Given the description of an element on the screen output the (x, y) to click on. 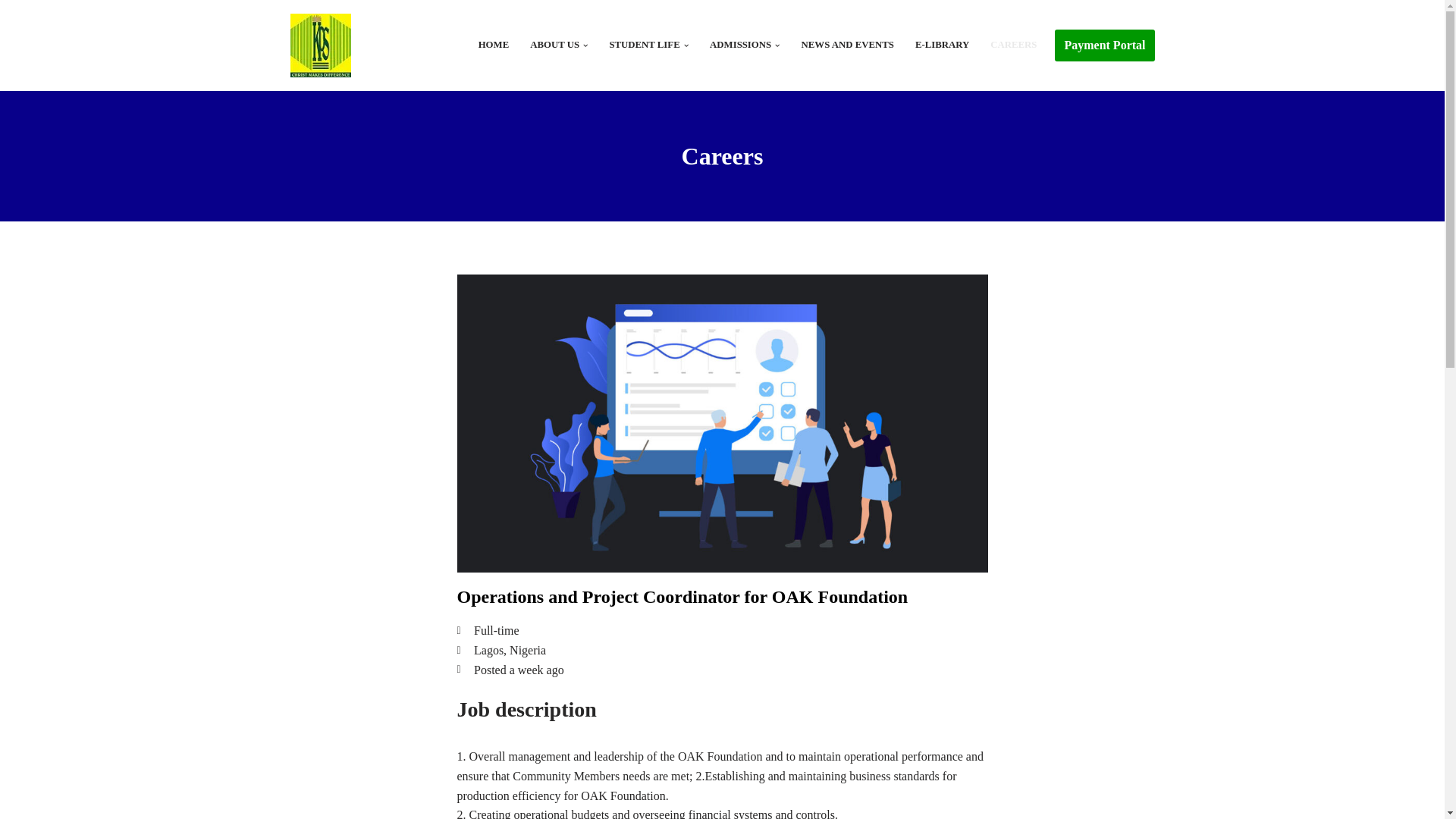
ADMISSIONS (740, 45)
CAREERS (1013, 45)
Skip to content (11, 31)
HOME (494, 45)
E-LIBRARY (942, 45)
ABOUT US (554, 45)
NEWS AND EVENTS (847, 45)
STUDENT LIFE (643, 45)
Payment Portal (1104, 45)
